Given the description of an element on the screen output the (x, y) to click on. 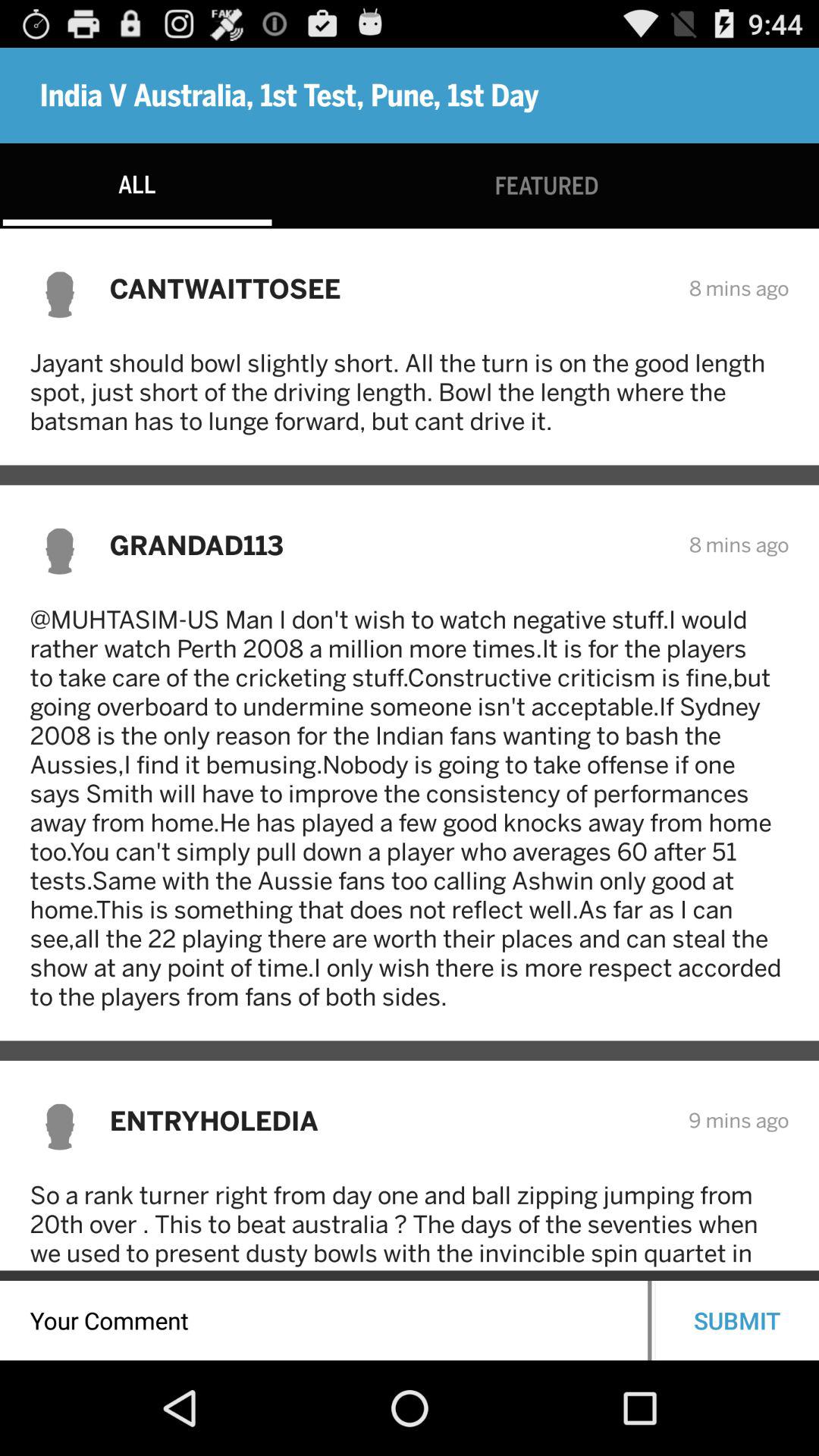
scroll to the submit item (737, 1320)
